Given the description of an element on the screen output the (x, y) to click on. 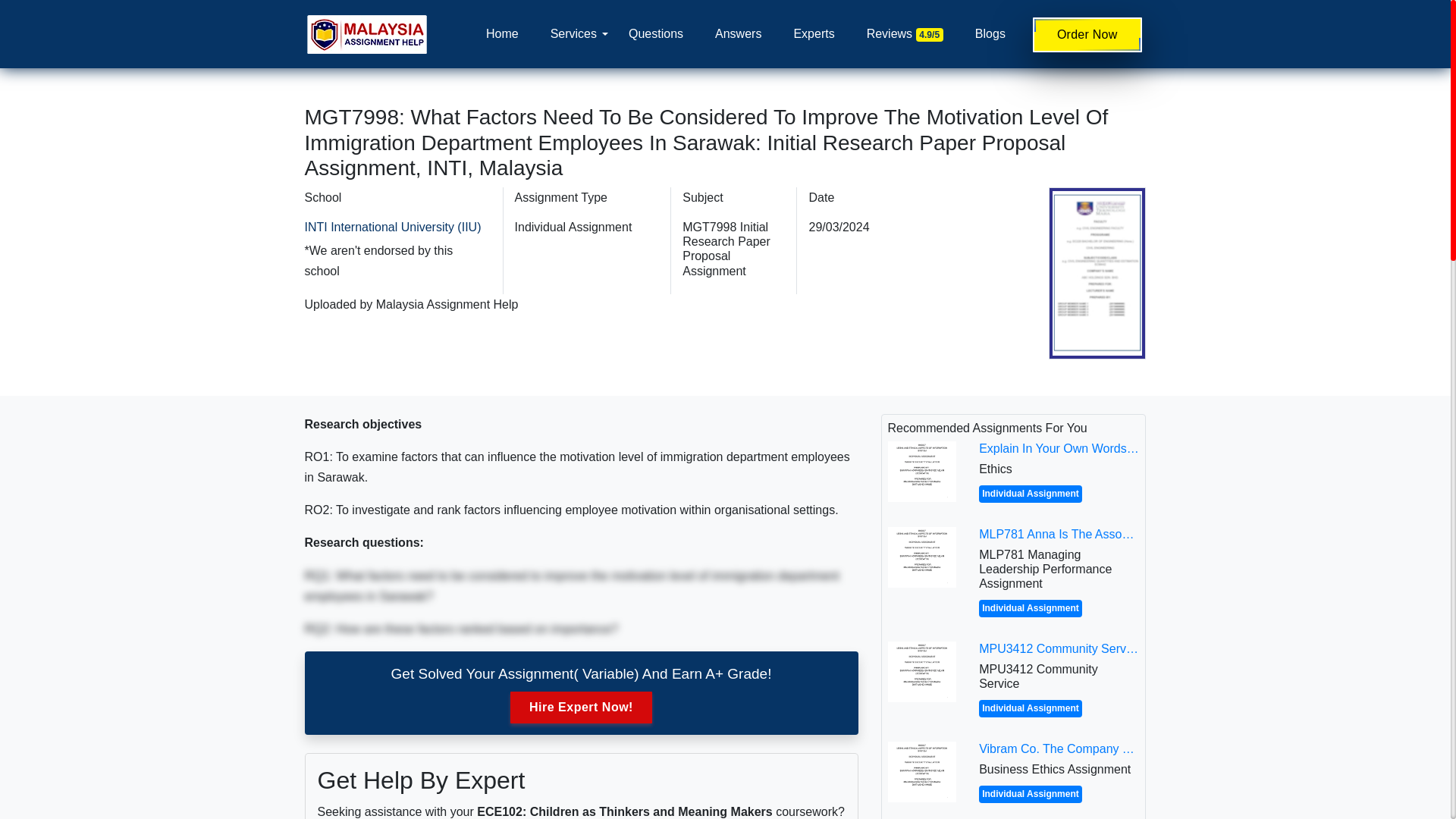
Blogs (989, 33)
Hire Expert Now! (581, 707)
Answers (738, 33)
Services (573, 33)
Questions (655, 33)
Order Now (1086, 34)
Experts (813, 33)
Home (501, 33)
